Given the description of an element on the screen output the (x, y) to click on. 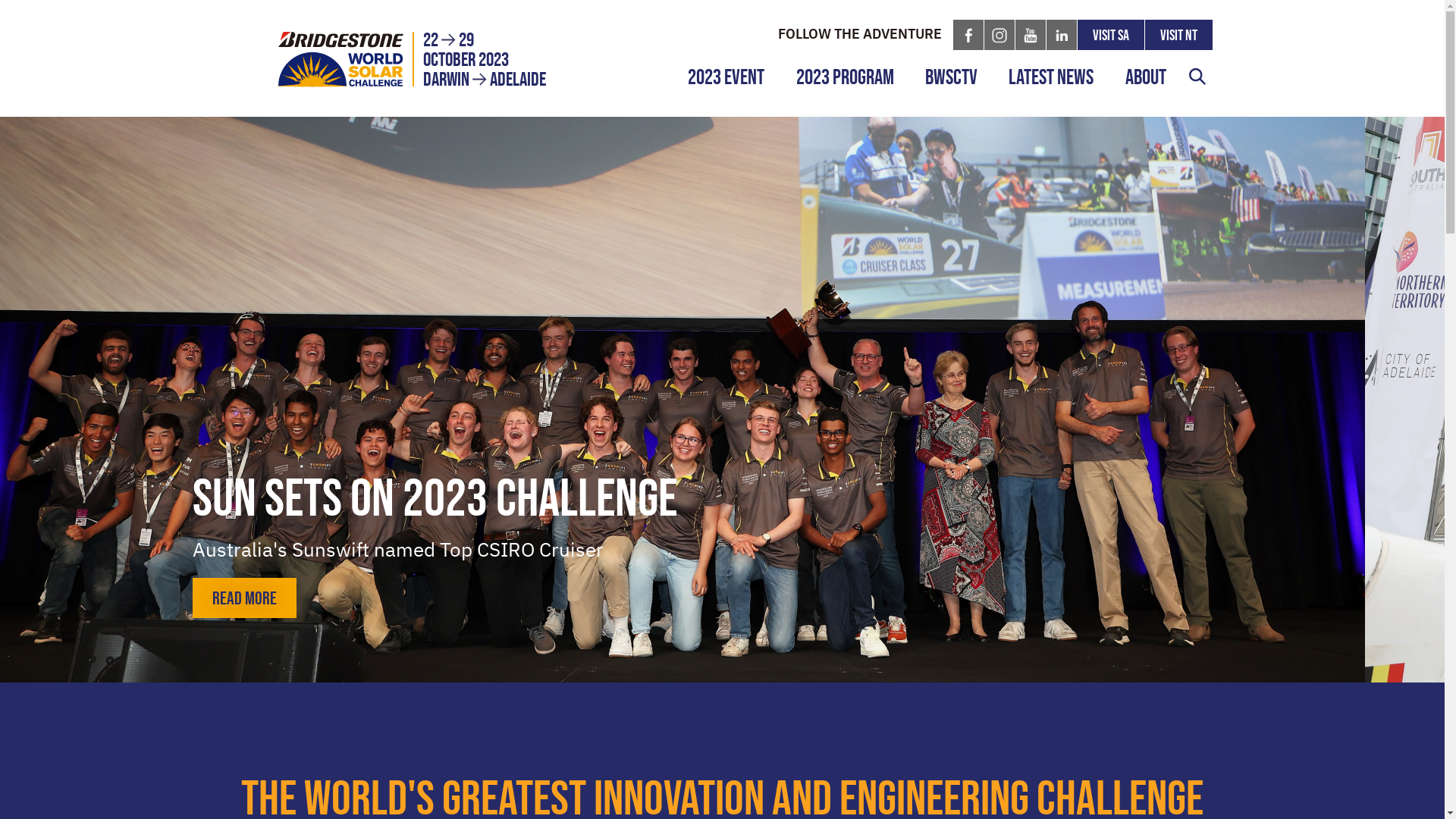
2023 Event Element type: text (725, 76)
VISIT NT Element type: text (1178, 34)
VISIT SA Element type: text (1109, 34)
About Element type: text (1145, 76)
Search Element type: text (1197, 76)
22
29
OCTOBER 2023
DARWIN
ADELAIDE Element type: text (414, 58)
2023 Program Element type: text (844, 76)
BWSCTV Element type: text (950, 76)
Latest News Element type: text (1051, 76)
